Given the description of an element on the screen output the (x, y) to click on. 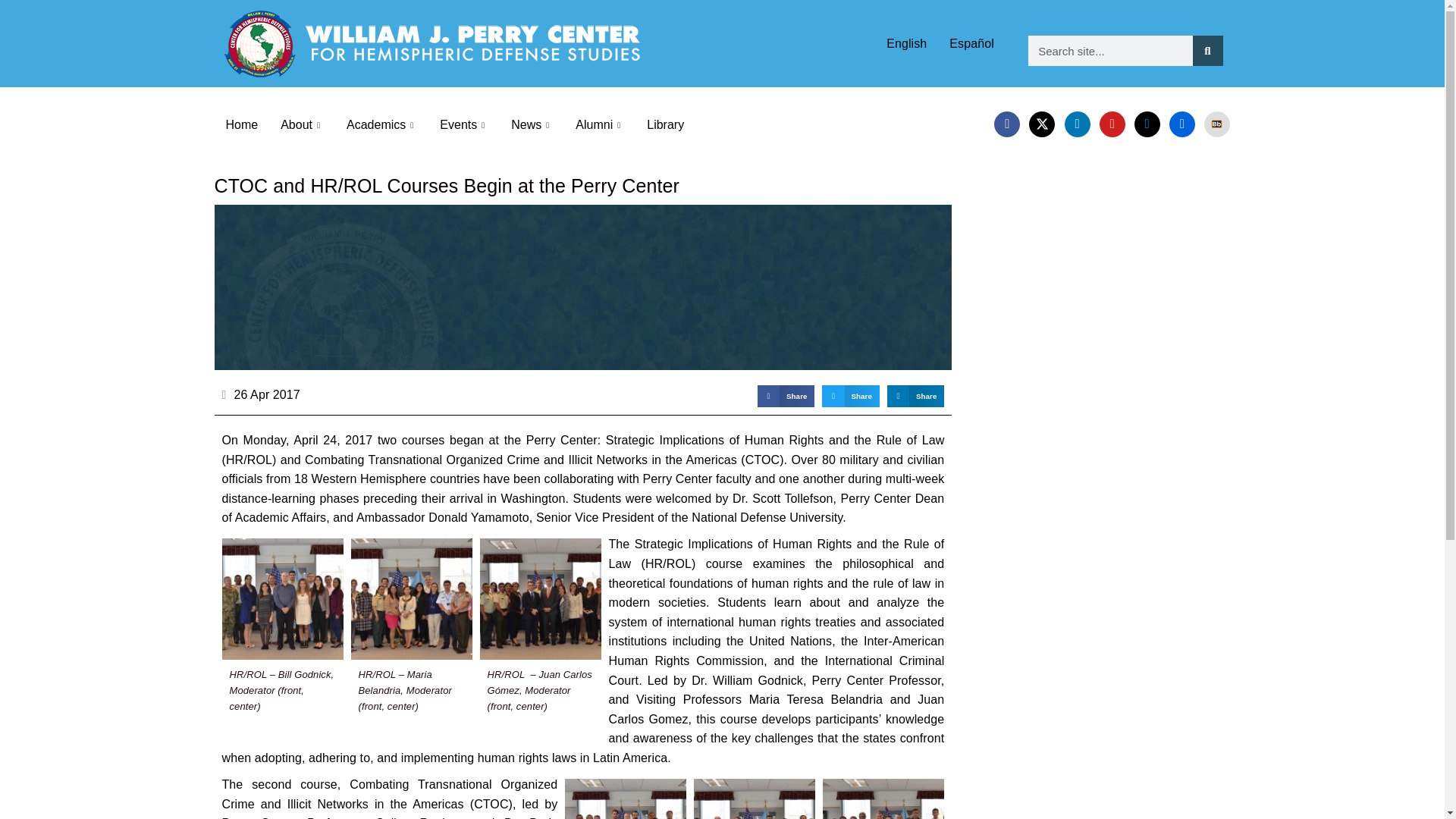
English (906, 42)
